Given the description of an element on the screen output the (x, y) to click on. 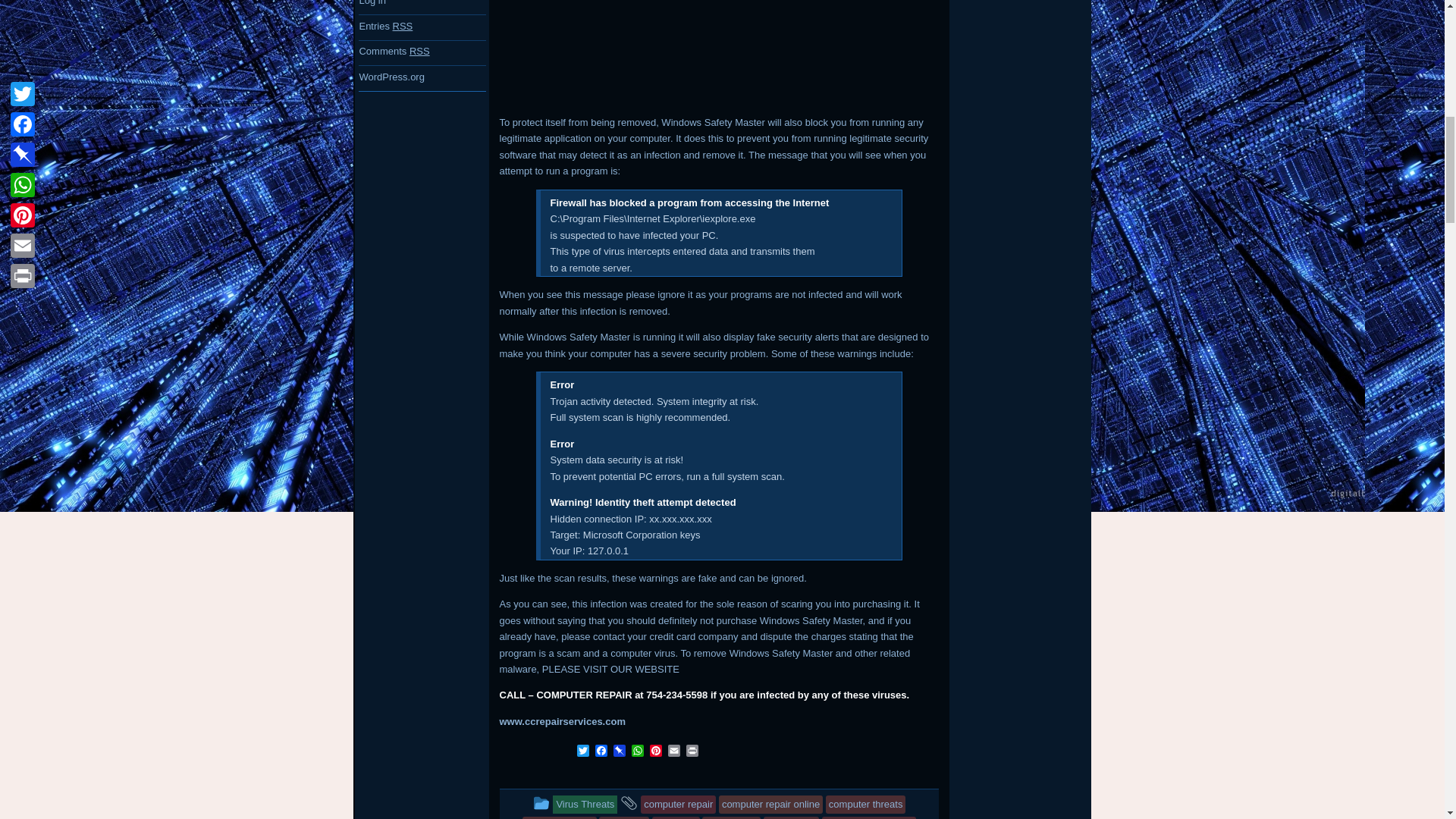
www.ccrepairservices.com (561, 721)
computer repair online (770, 803)
Really Simple Syndication (403, 25)
computer repair (678, 803)
computer threats (865, 803)
Email (672, 751)
Pinboard (618, 751)
WhatsApp (636, 751)
Virus Threats (585, 803)
Pinterest (654, 751)
